Given the description of an element on the screen output the (x, y) to click on. 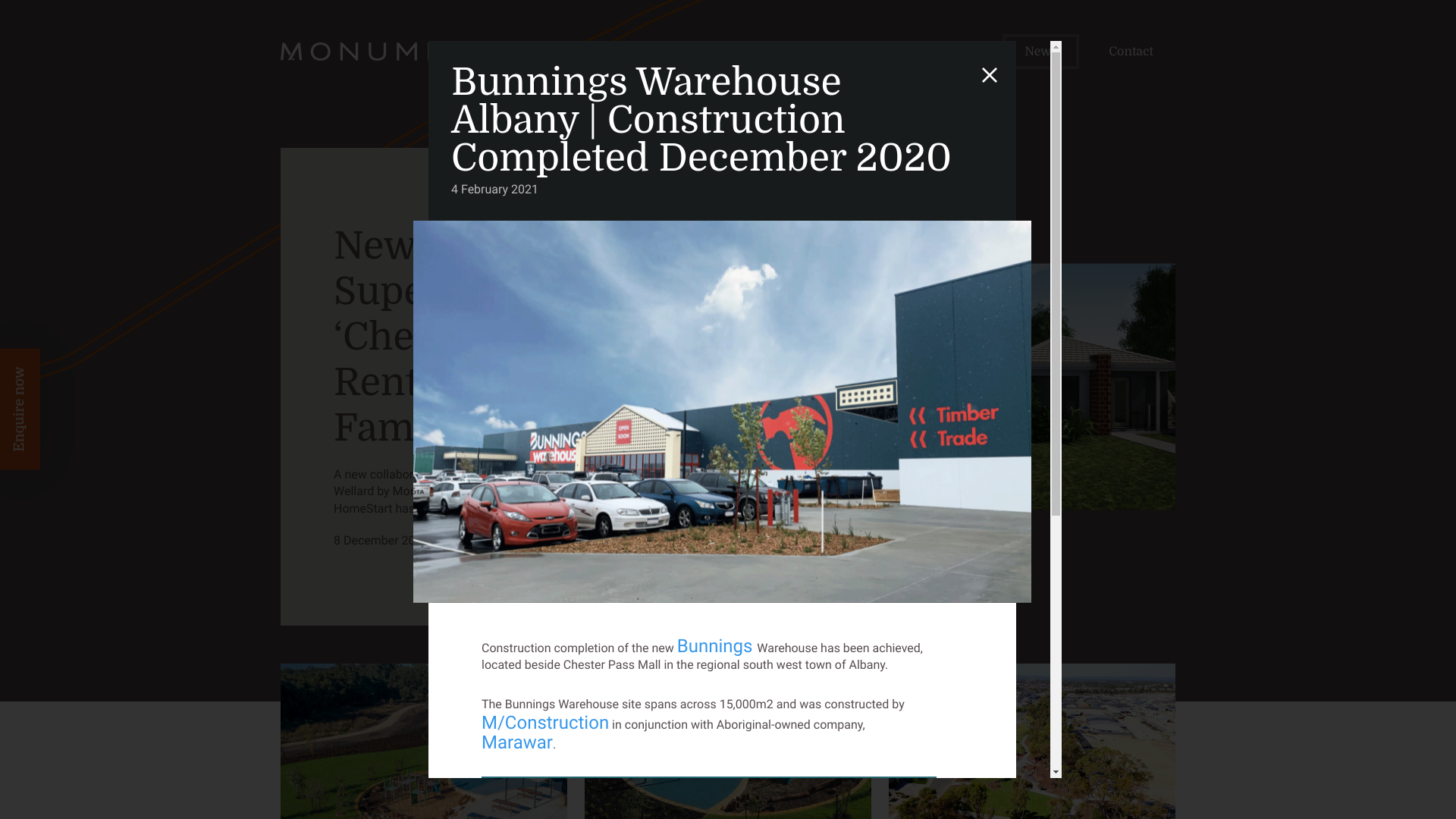
Click here to close modal Element type: text (989, 74)
Enquire now Element type: text (60, 368)
News Element type: text (1040, 51)
Estates Element type: text (951, 51)
Home Element type: text (775, 51)
Bunnings Element type: text (717, 645)
About Element type: text (861, 51)
M/Construction Element type: text (544, 722)
Marawar Element type: text (516, 742)
Contact Element type: text (1130, 51)
Monument Element type: text (388, 51)
